Given the description of an element on the screen output the (x, y) to click on. 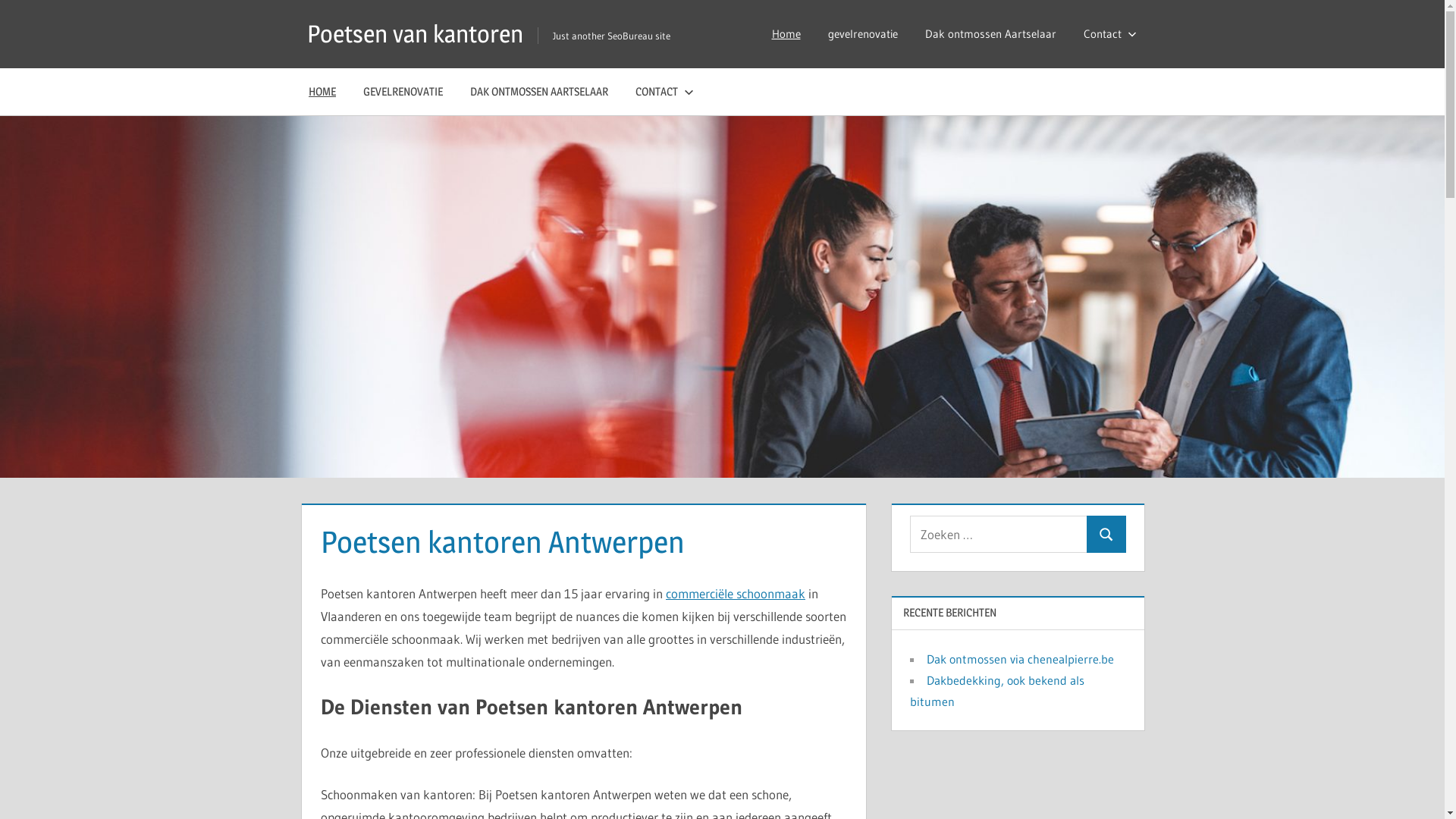
Contact Element type: text (1106, 33)
Dak ontmossen Aartselaar Element type: text (990, 33)
GEVELRENOVATIE Element type: text (402, 91)
Home Element type: text (786, 33)
CONTACT Element type: text (661, 91)
Dak ontmossen via chenealpierre.be Element type: text (1019, 658)
gevelrenovatie Element type: text (862, 33)
Dakbedekking, ook bekend als bitumen Element type: text (997, 690)
Zoeken naar: Element type: hover (998, 533)
Poetsen van kantoren Element type: text (415, 33)
HOME Element type: text (321, 91)
DAK ONTMOSSEN AARTSELAAR Element type: text (538, 91)
Zoeken Element type: text (1105, 533)
